Given the description of an element on the screen output the (x, y) to click on. 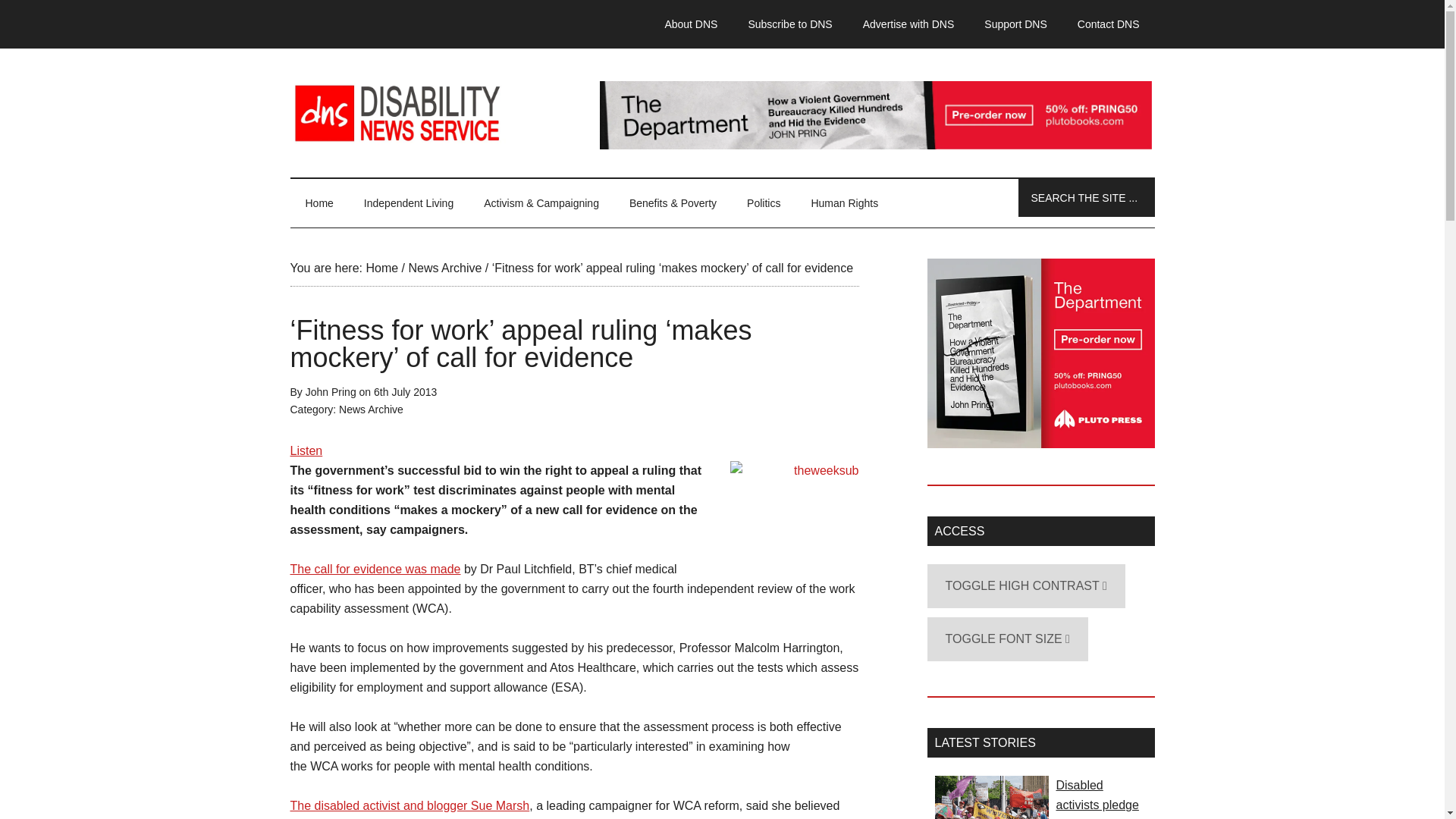
The disabled activist and blogger Sue Marsh (409, 805)
News Archive (371, 409)
Contact DNS (1108, 24)
News Archive (444, 267)
Home (318, 203)
Listen (305, 450)
Independent Living (408, 203)
John Pring (330, 391)
Home (381, 267)
Support DNS (1015, 24)
Disability News Service (721, 112)
Advertise with DNS (908, 24)
